Given the description of an element on the screen output the (x, y) to click on. 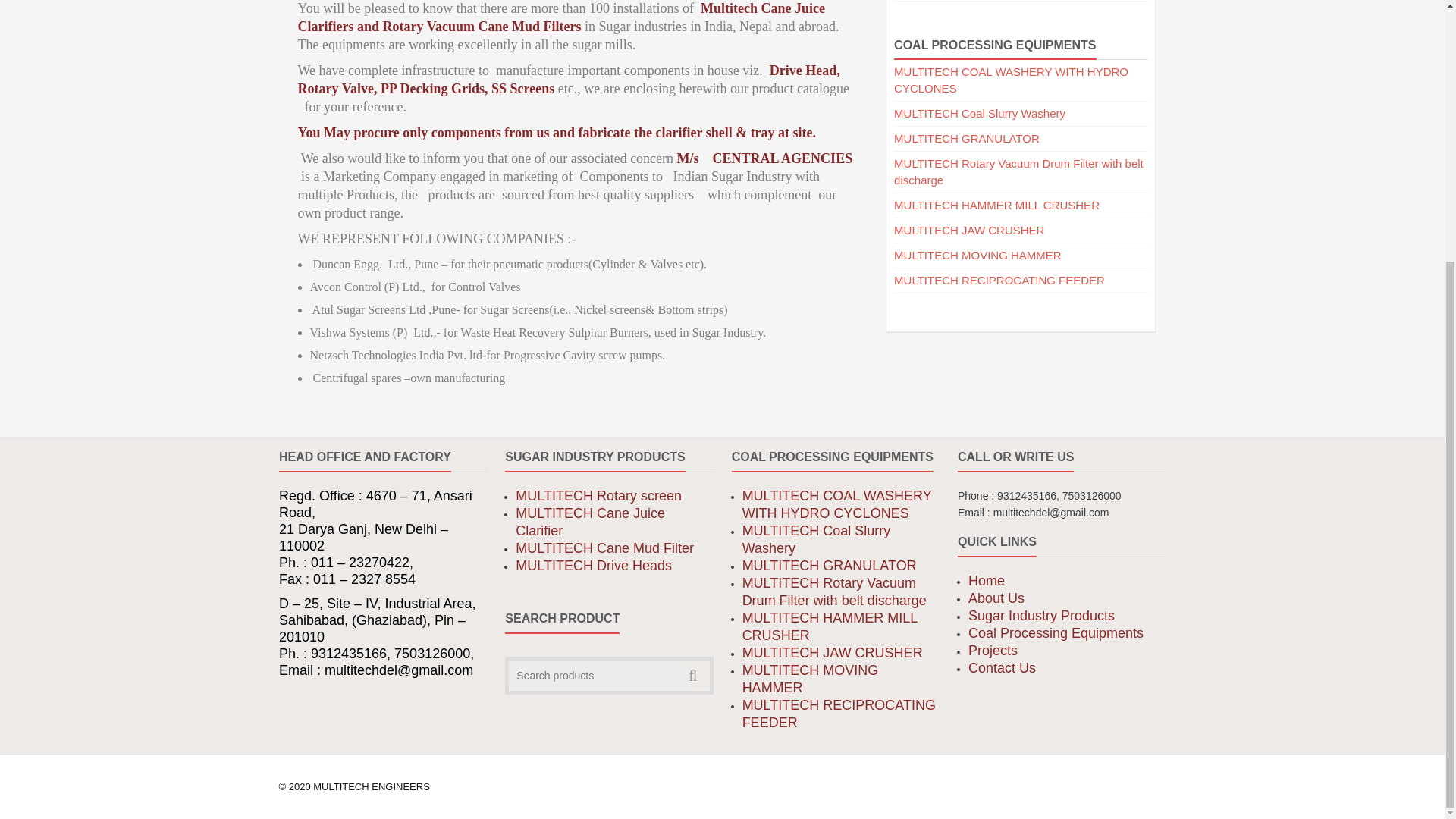
MULTITECH MOVING HAMMER (977, 254)
MULTITECH Drive Heads (593, 565)
MULTITECH Coal Slurry Washery (979, 113)
MULTITECH JAW CRUSHER (968, 229)
MULTITECH Cane Juice Clarifier (590, 522)
MULTITECH Rotary Vacuum Drum Filter with belt discharge (1017, 171)
MULTITECH Cane Mud Filter (604, 548)
MULTITECH GRANULATOR (966, 137)
MULTITECH HAMMER MILL CRUSHER (996, 205)
MULTITECH COAL WASHERY WITH HYDRO CYCLONES (1010, 80)
MULTITECH RECIPROCATING FEEDER (999, 279)
MULTITECH Rotary screen (598, 495)
